Given the description of an element on the screen output the (x, y) to click on. 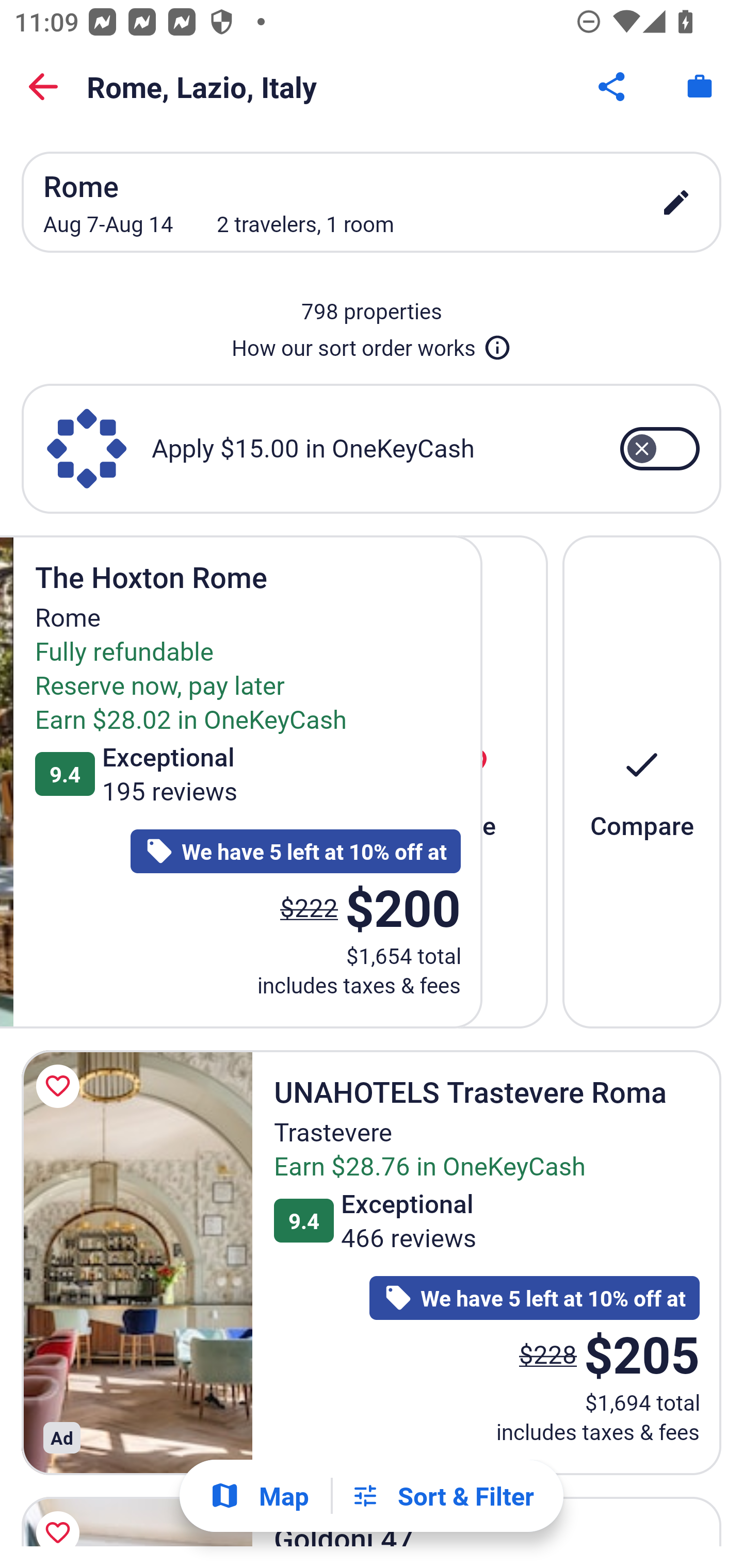
Back (43, 86)
Share Button (612, 86)
Trips. Button (699, 86)
Rome Aug 7-Aug 14 2 travelers, 1 room edit (371, 202)
How our sort order works (371, 344)
Compare (641, 781)
$222 The price was $222 (308, 906)
Save UNAHOTELS Trastevere Roma to a trip (61, 1085)
UNAHOTELS Trastevere Roma (136, 1262)
$228 The price was $228 (547, 1353)
Filters Sort & Filter Filters Button (442, 1495)
Show map Map Show map Button (258, 1495)
Save Goldoni 47 to a trip (61, 1517)
